Given the description of an element on the screen output the (x, y) to click on. 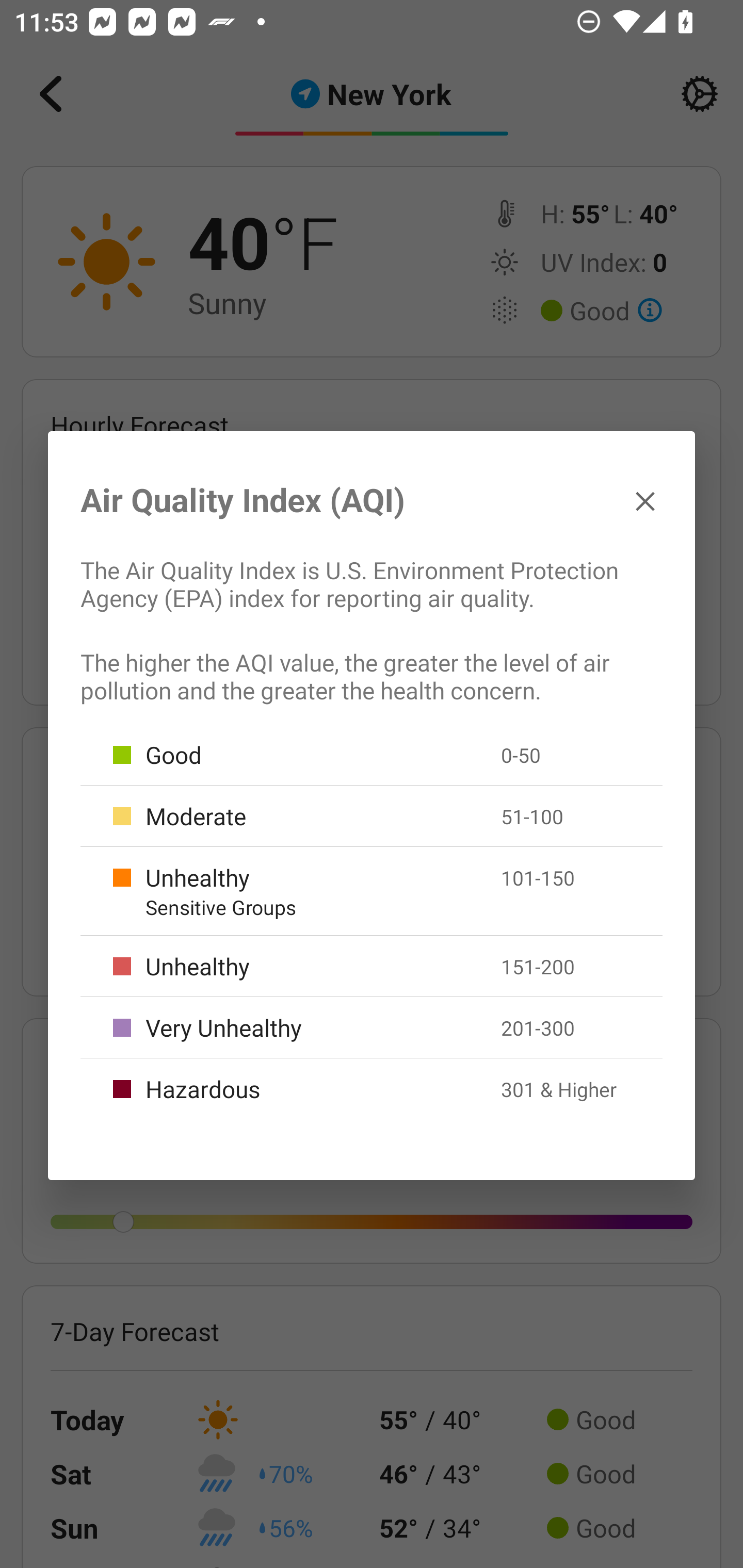
✕ (644, 499)
